Given the description of an element on the screen output the (x, y) to click on. 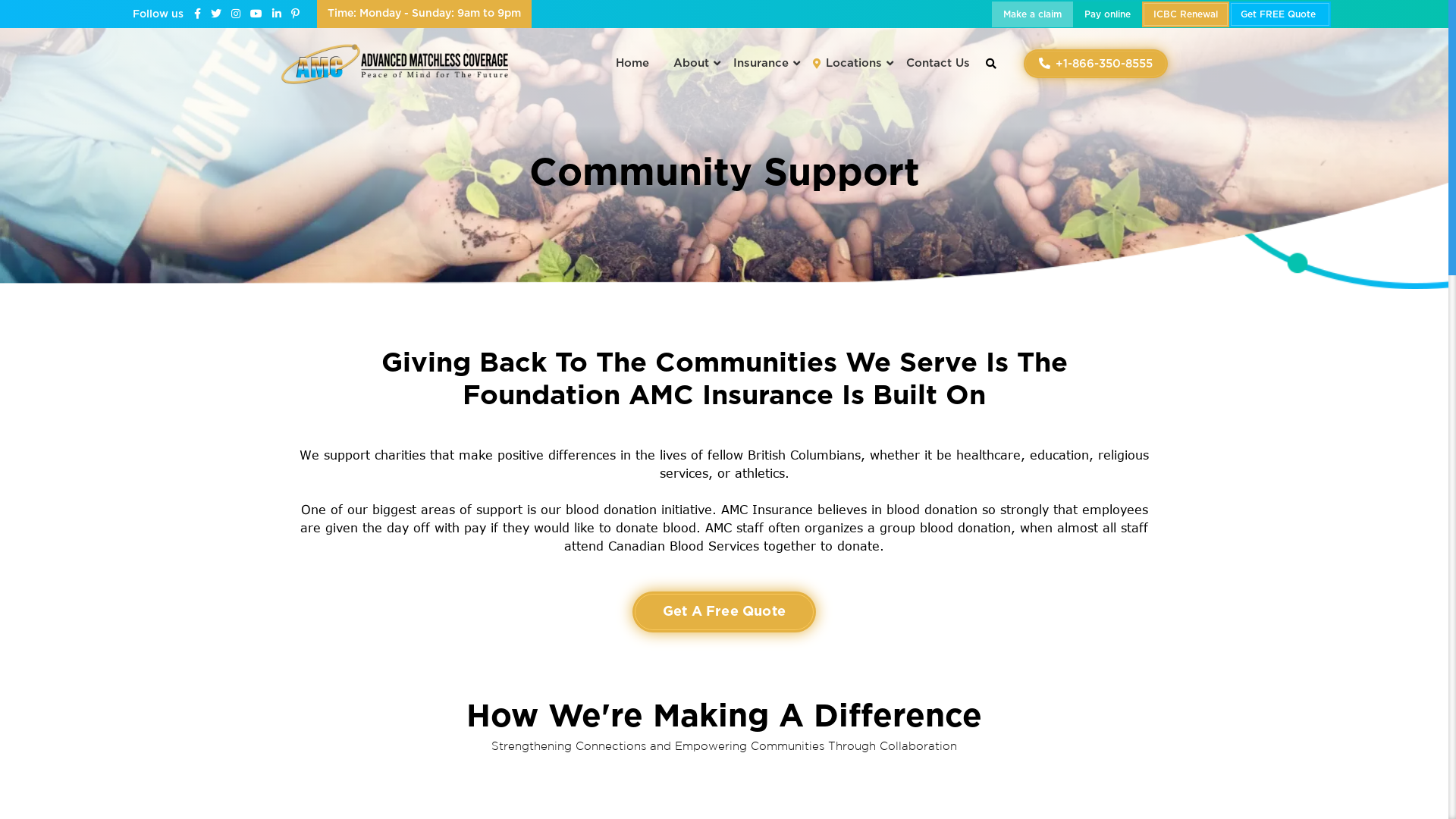
Insurance Element type: text (760, 63)
Contact Us Element type: text (931, 63)
Get A Free Quote Element type: text (723, 611)
ICBC Renewal Element type: text (1185, 14)
+1-866-350-8555 Element type: text (1095, 62)
About Element type: text (691, 63)
Home Element type: text (632, 63)
Pay online Element type: text (1107, 14)
Get FREE Quote Element type: text (1279, 14)
Locations Element type: text (847, 63)
Make a claim Element type: text (1032, 14)
